Given the description of an element on the screen output the (x, y) to click on. 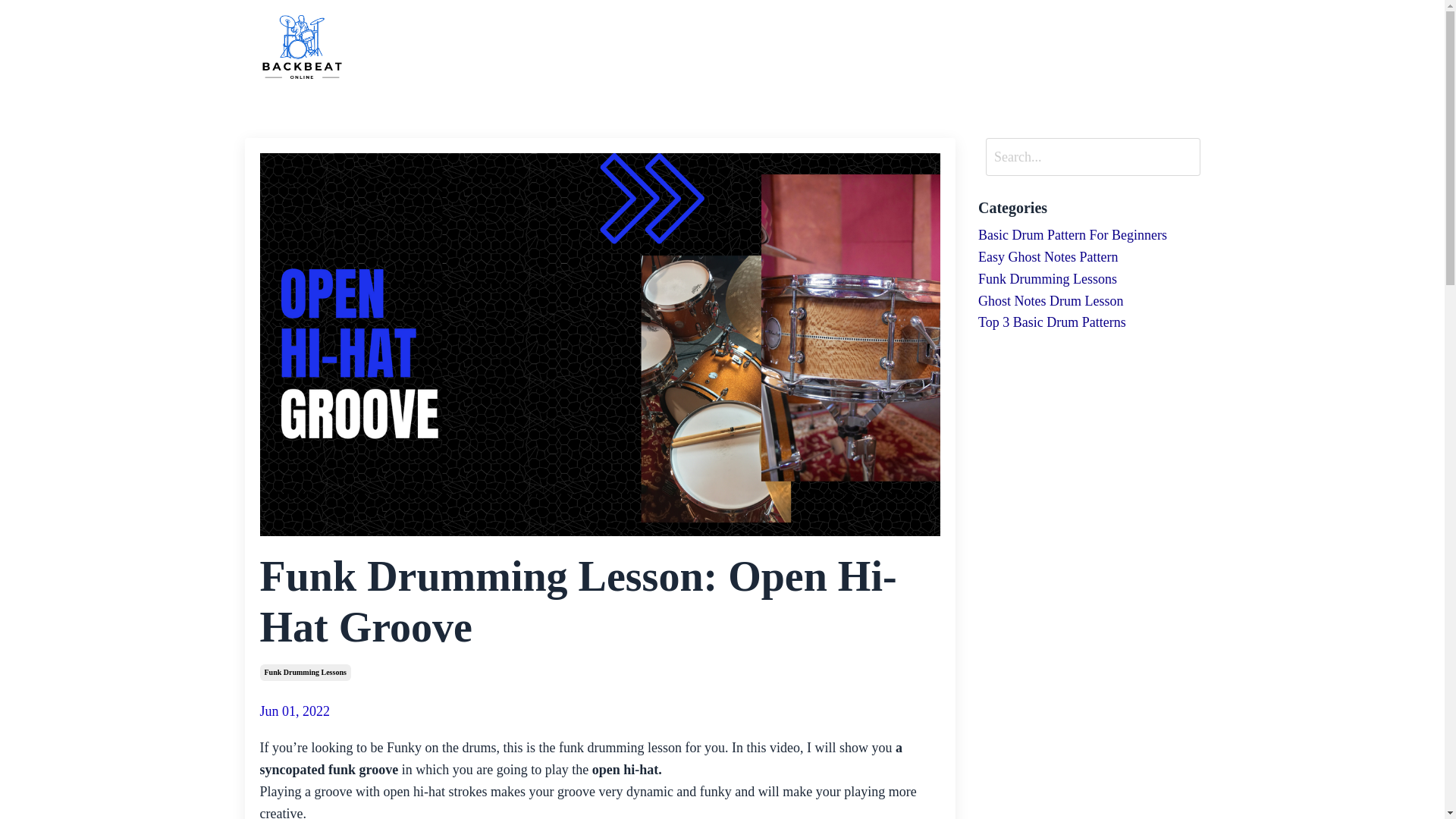
Easy Ghost Notes Pattern (1088, 257)
Funk Drumming Lessons (304, 672)
Top 3 Basic Drum Patterns (1088, 322)
Ghost Notes Drum Lesson (1088, 301)
Funk Drumming Lessons (1088, 279)
Log In (1174, 47)
Basic Drum Pattern For Beginners (1088, 235)
